Given the description of an element on the screen output the (x, y) to click on. 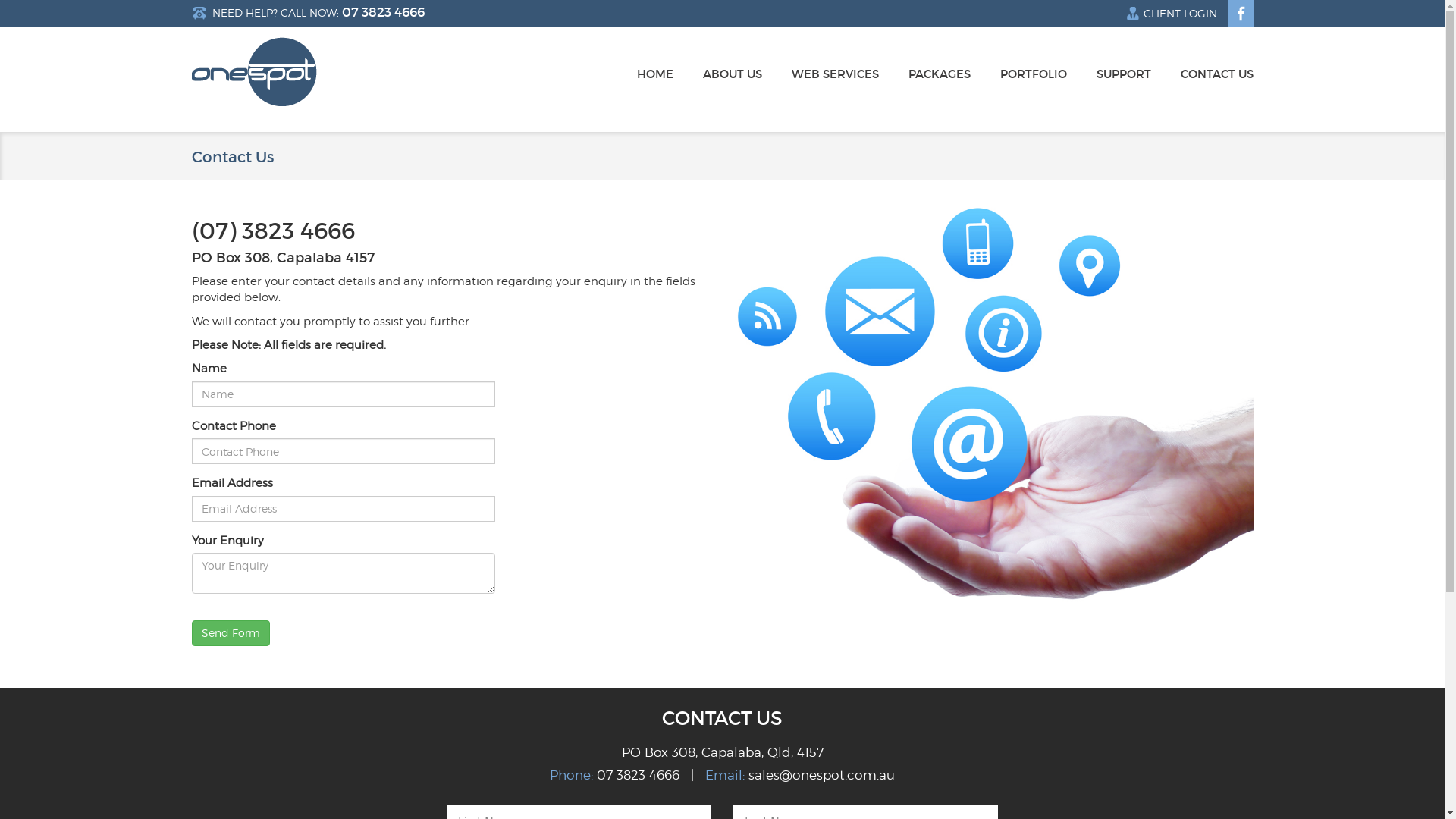
PORTFOLIO Element type: text (1032, 81)
HOME Element type: text (655, 81)
CONTACT US Element type: text (1215, 81)
sales@onespot.com.au Element type: text (821, 774)
ABOUT US Element type: text (731, 81)
CLIENT LOGIN Element type: text (1169, 13)
PACKAGES Element type: text (939, 81)
SUPPORT Element type: text (1123, 81)
WEB SERVICES Element type: text (834, 81)
Send Form Element type: text (230, 633)
